Given the description of an element on the screen output the (x, y) to click on. 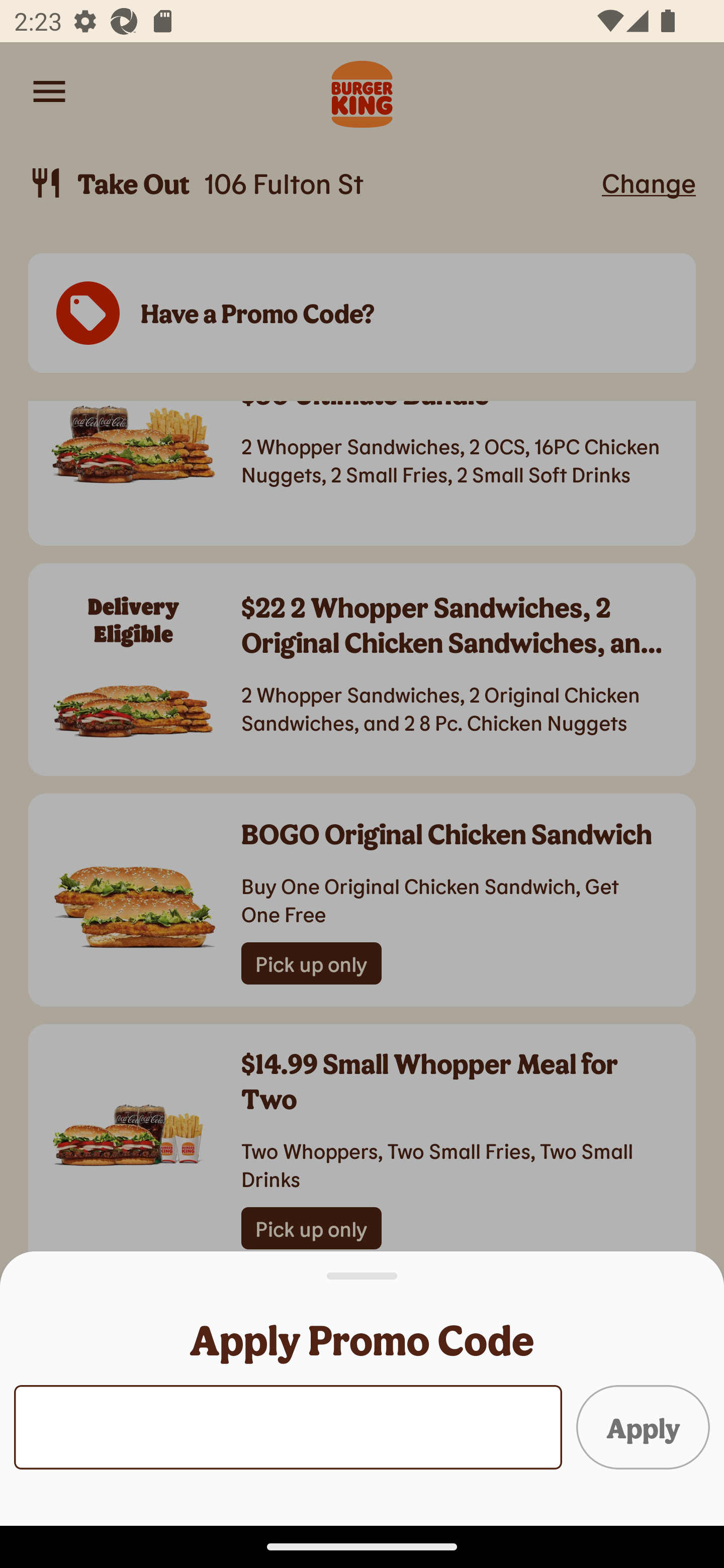
Apply (643, 1426)
